Given the description of an element on the screen output the (x, y) to click on. 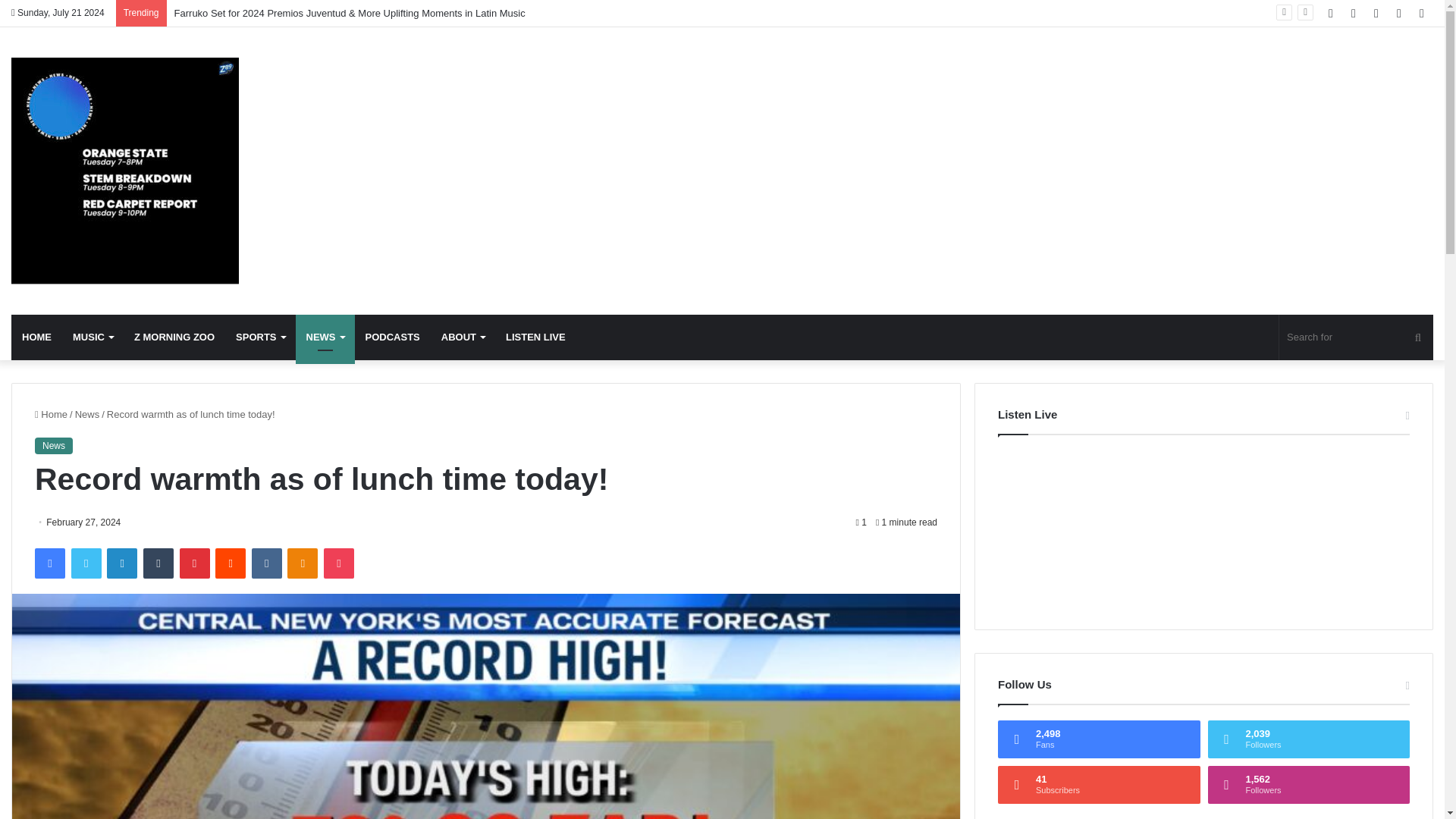
Z MORNING ZOO (174, 337)
Home (50, 414)
Twitter (86, 562)
Search for (1355, 337)
Reddit (230, 562)
Odnoklassniki (301, 562)
HOME (36, 337)
Pinterest (194, 562)
VKontakte (266, 562)
News (87, 414)
LinkedIn (121, 562)
PODCASTS (392, 337)
Facebook (49, 562)
SPORTS (260, 337)
Tumblr (157, 562)
